Given the description of an element on the screen output the (x, y) to click on. 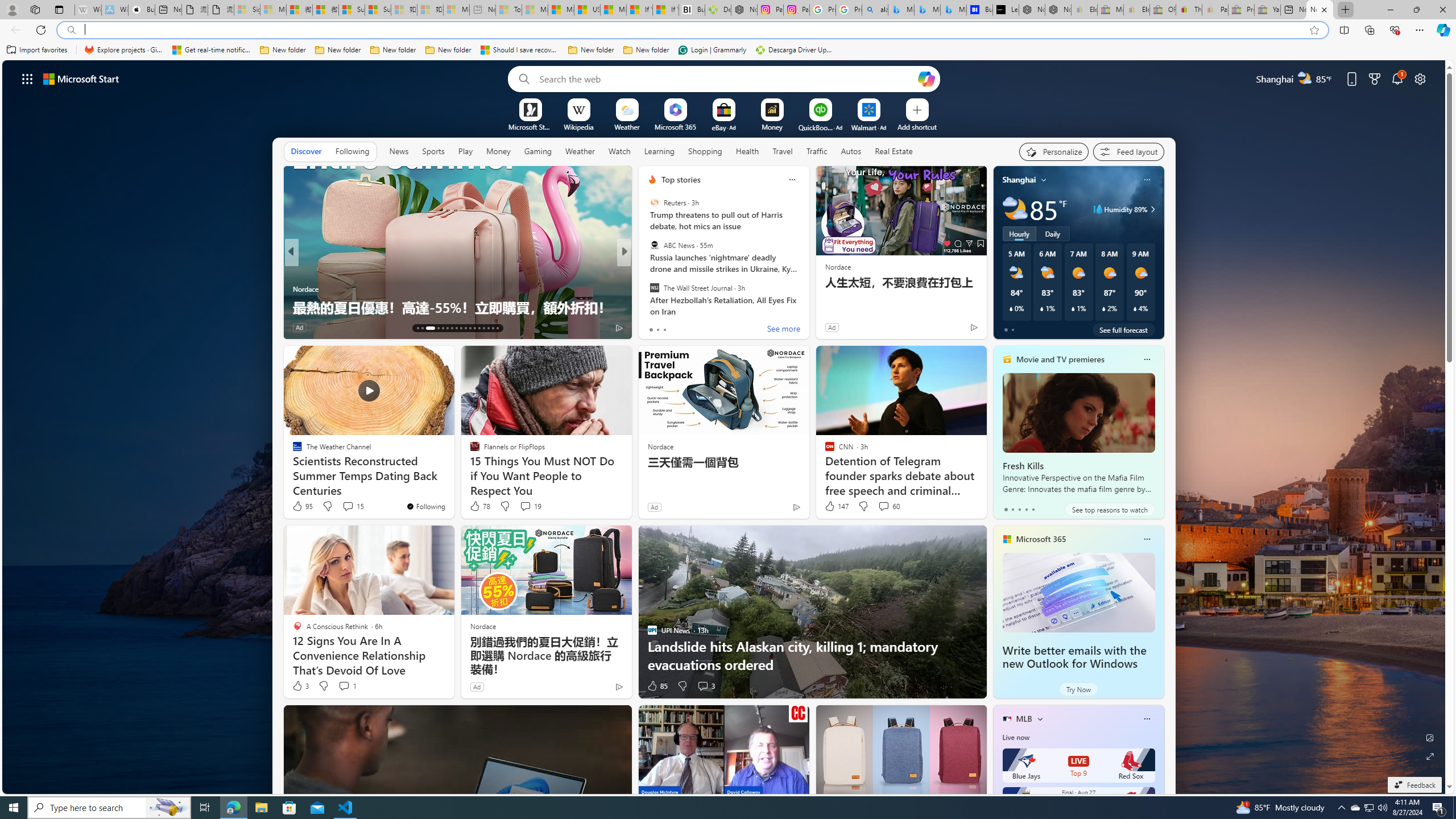
AutomationID: tab-22 (465, 328)
View comments 55 Comment (707, 327)
Hourly (1018, 233)
215 Like (304, 327)
tab-3 (1025, 509)
AutomationID: tab-15 (426, 328)
Microsoft Bing Travel - Flights from Hong Kong to Bangkok (900, 9)
New folder (646, 49)
Threats and offensive language policy | eBay (1188, 9)
Money (497, 151)
Gaming (537, 151)
